Given the description of an element on the screen output the (x, y) to click on. 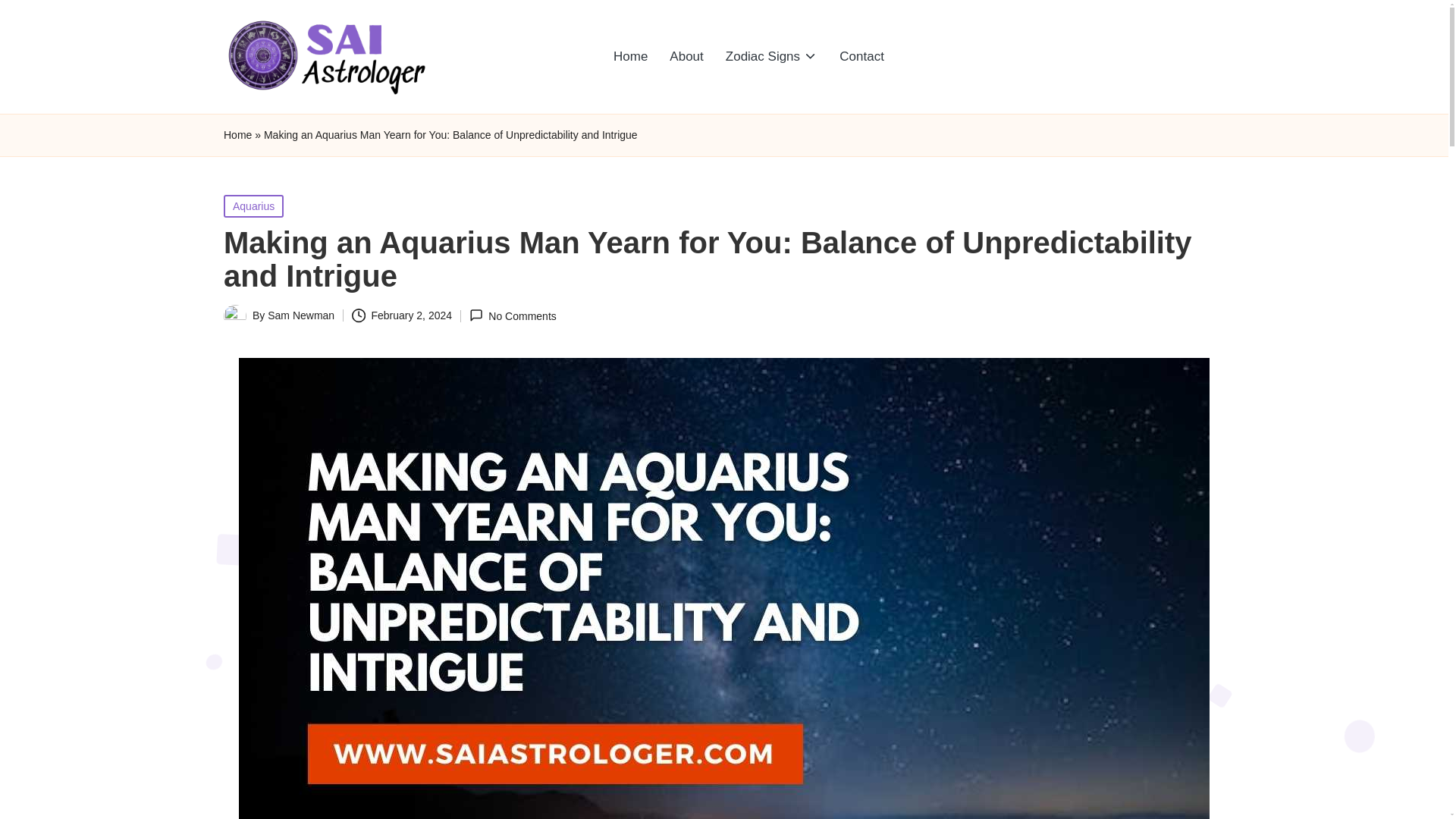
Zodiac Signs (771, 56)
Contact (861, 56)
About (686, 56)
Home (630, 56)
Home (237, 135)
Sam Newman (300, 315)
Aquarius (253, 205)
View all posts by Sam Newman (300, 315)
